Given the description of an element on the screen output the (x, y) to click on. 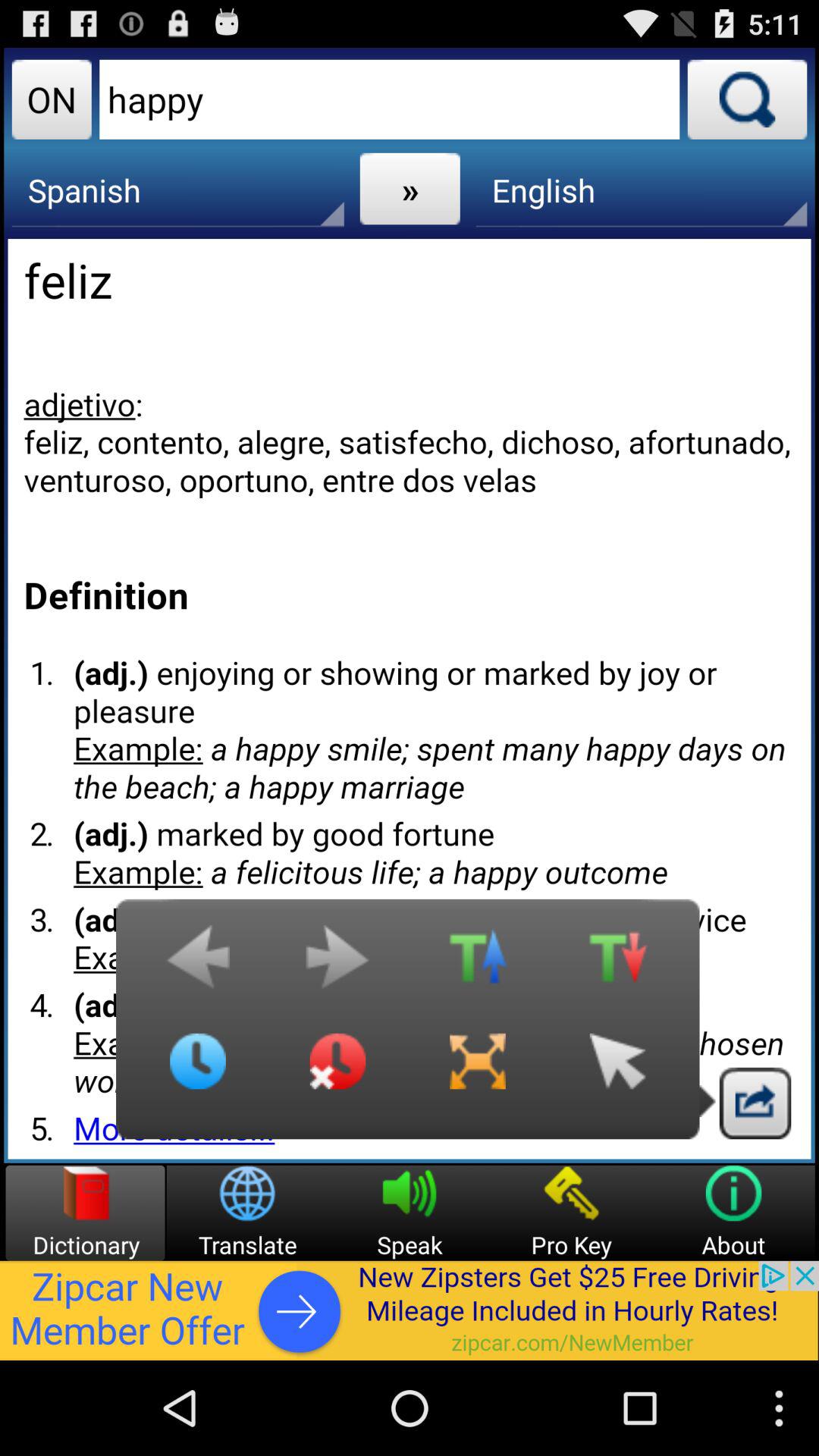
searches (747, 99)
